Given the description of an element on the screen output the (x, y) to click on. 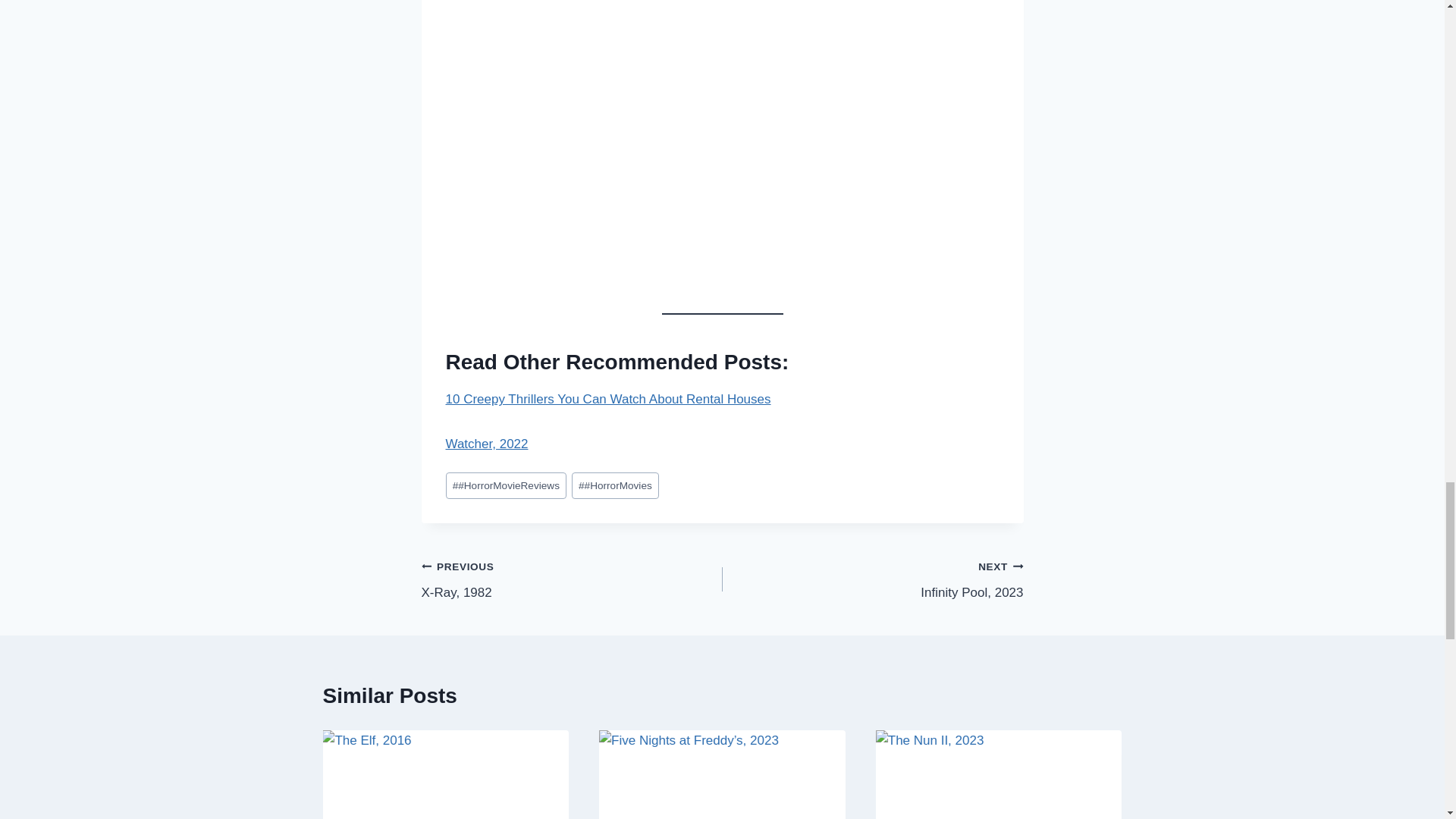
Watcher, 2022 (872, 579)
10 Creepy Thrillers You Can Watch About Rental Houses (486, 443)
